Given the description of an element on the screen output the (x, y) to click on. 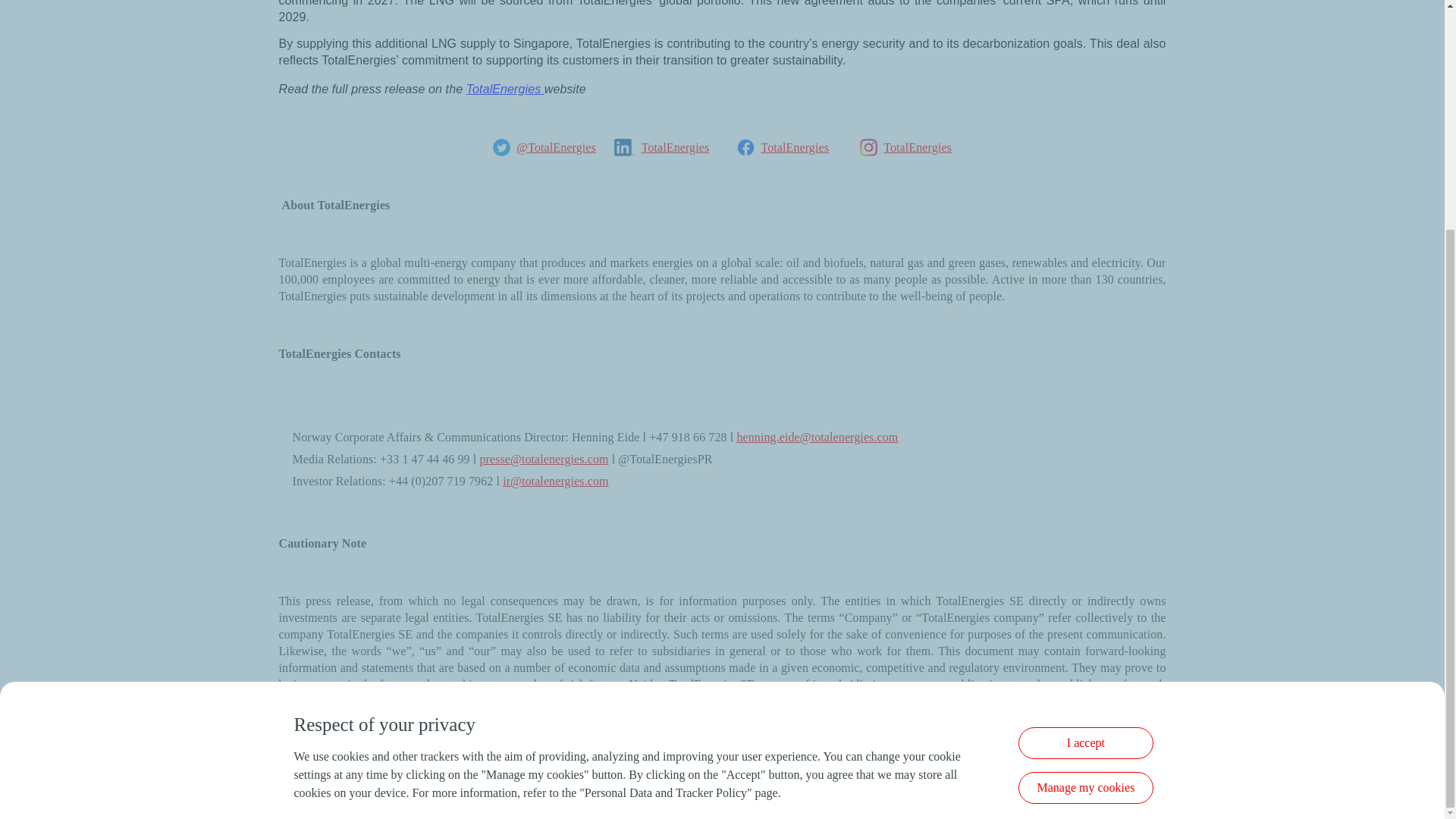
TotalEnergies (794, 146)
TotalEnergies (504, 88)
TotalEnergies (676, 146)
TotalEnergies (917, 146)
